Given the description of an element on the screen output the (x, y) to click on. 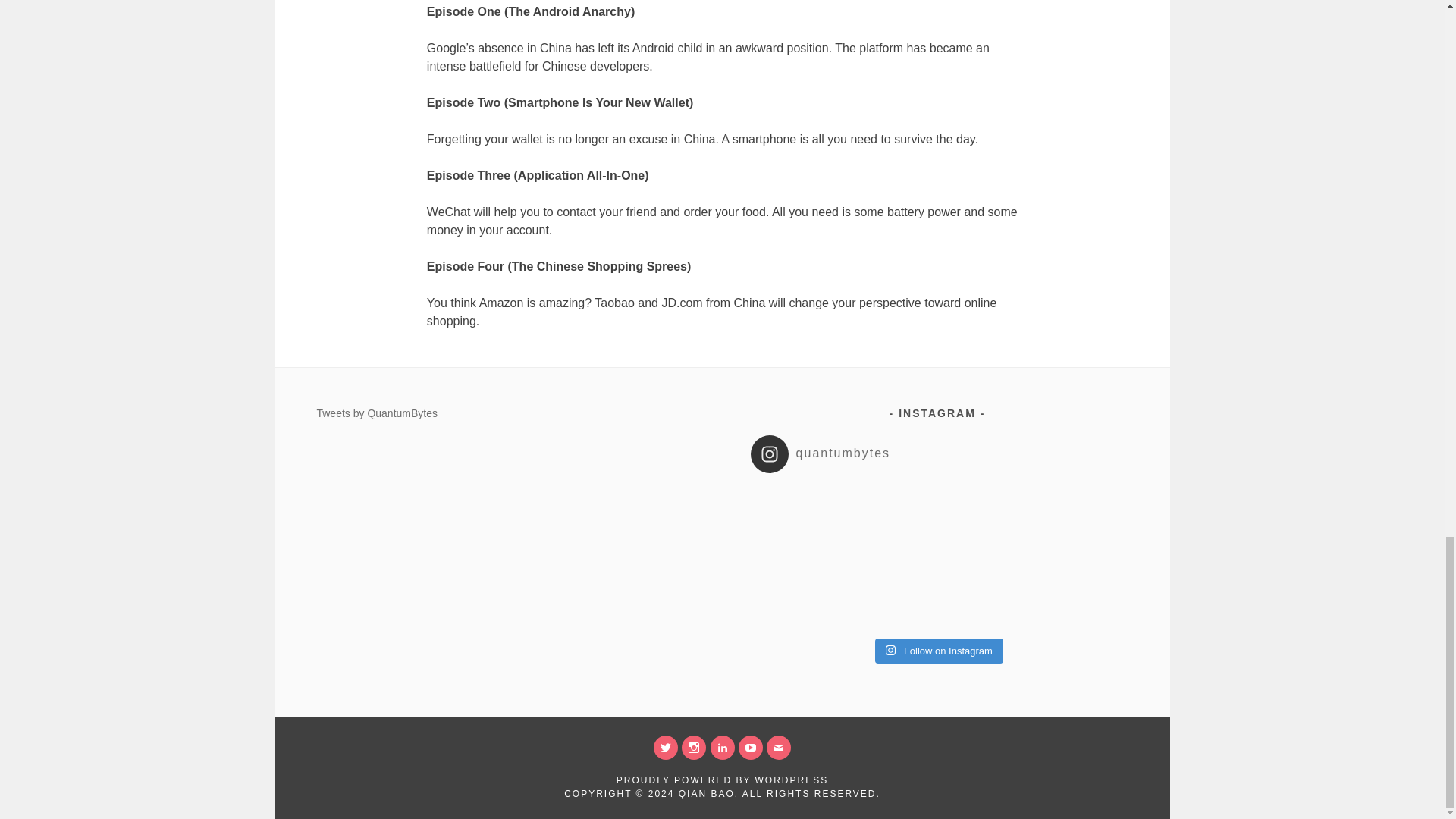
A Semantic Personal Publishing Platform (721, 779)
LINKEDIN (721, 747)
PROUDLY POWERED BY WORDPRESS (721, 779)
Follow on Instagram (939, 651)
EMAIL (778, 747)
YOUTUBE (750, 747)
TWITTER (665, 747)
quantumbytes (941, 453)
INSTAGRAM (693, 747)
